Given the description of an element on the screen output the (x, y) to click on. 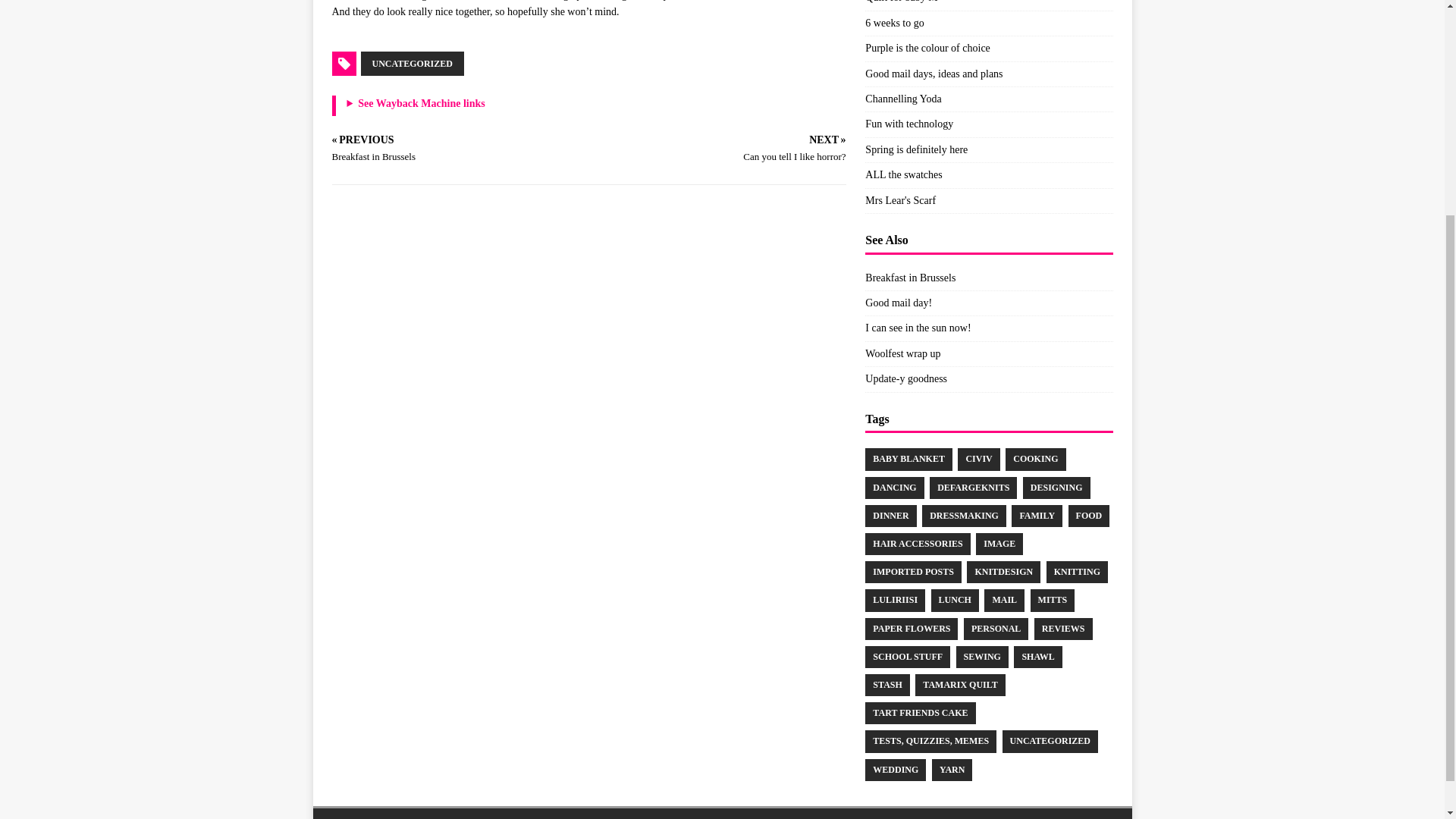
CivIV (978, 458)
knitting (1077, 572)
family (1036, 516)
designing (1056, 487)
Imported Posts (912, 572)
Update-y goodness (905, 378)
DESIGNING (1056, 487)
cooking (1035, 458)
Image (999, 544)
hair accessories (916, 544)
knitdesign (1003, 572)
COOKING (1035, 458)
Fun with technology (908, 123)
FAMILY (1036, 516)
Mrs Lear's Scarf (900, 200)
